Given the description of an element on the screen output the (x, y) to click on. 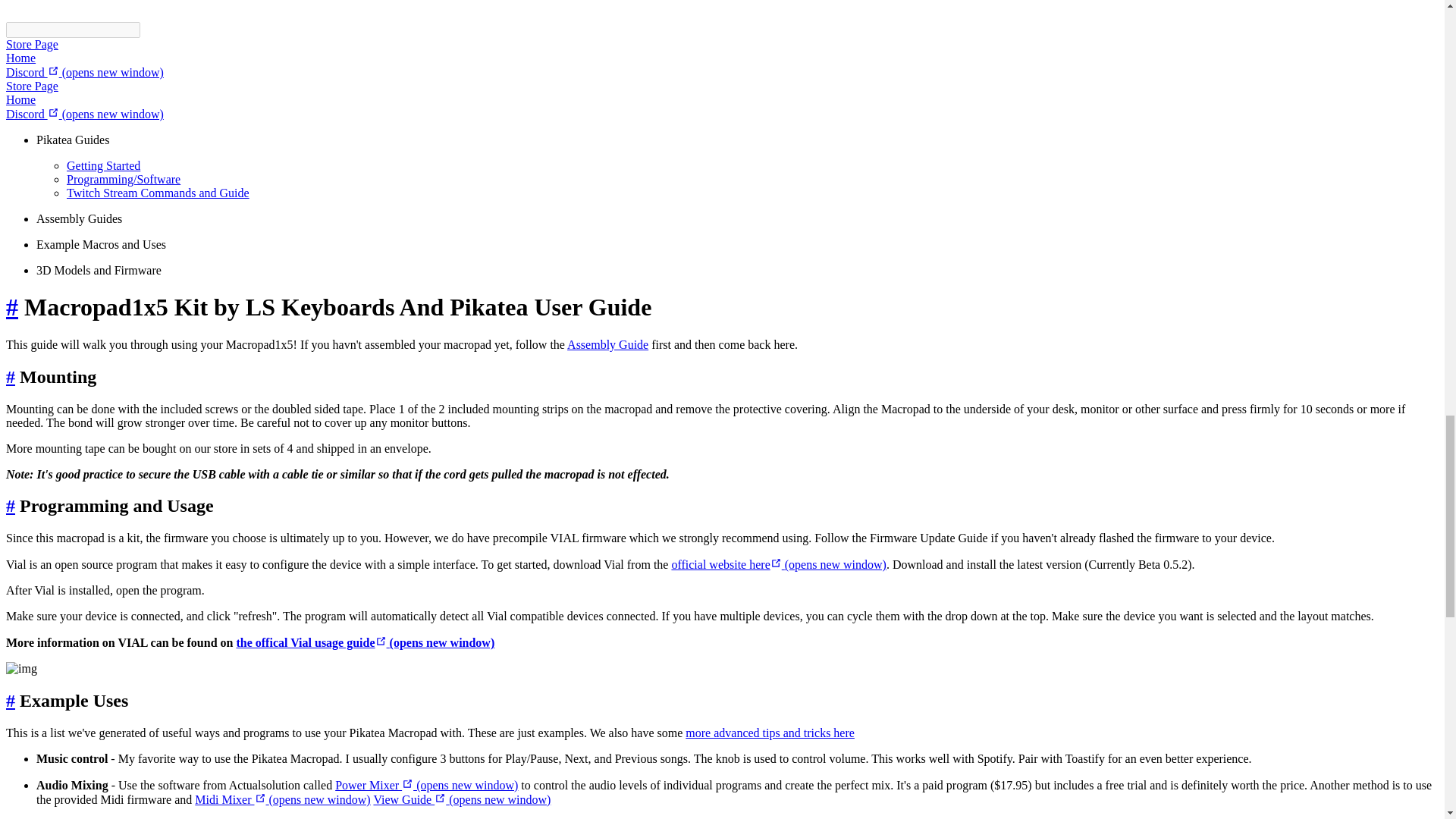
Getting Started (102, 164)
Twitch Stream Commands and Guide (157, 192)
more advanced tips and tricks here (769, 732)
Assembly Guide (607, 344)
Store Page (31, 85)
Store Page (31, 43)
Home (19, 99)
Home (19, 57)
